Given the description of an element on the screen output the (x, y) to click on. 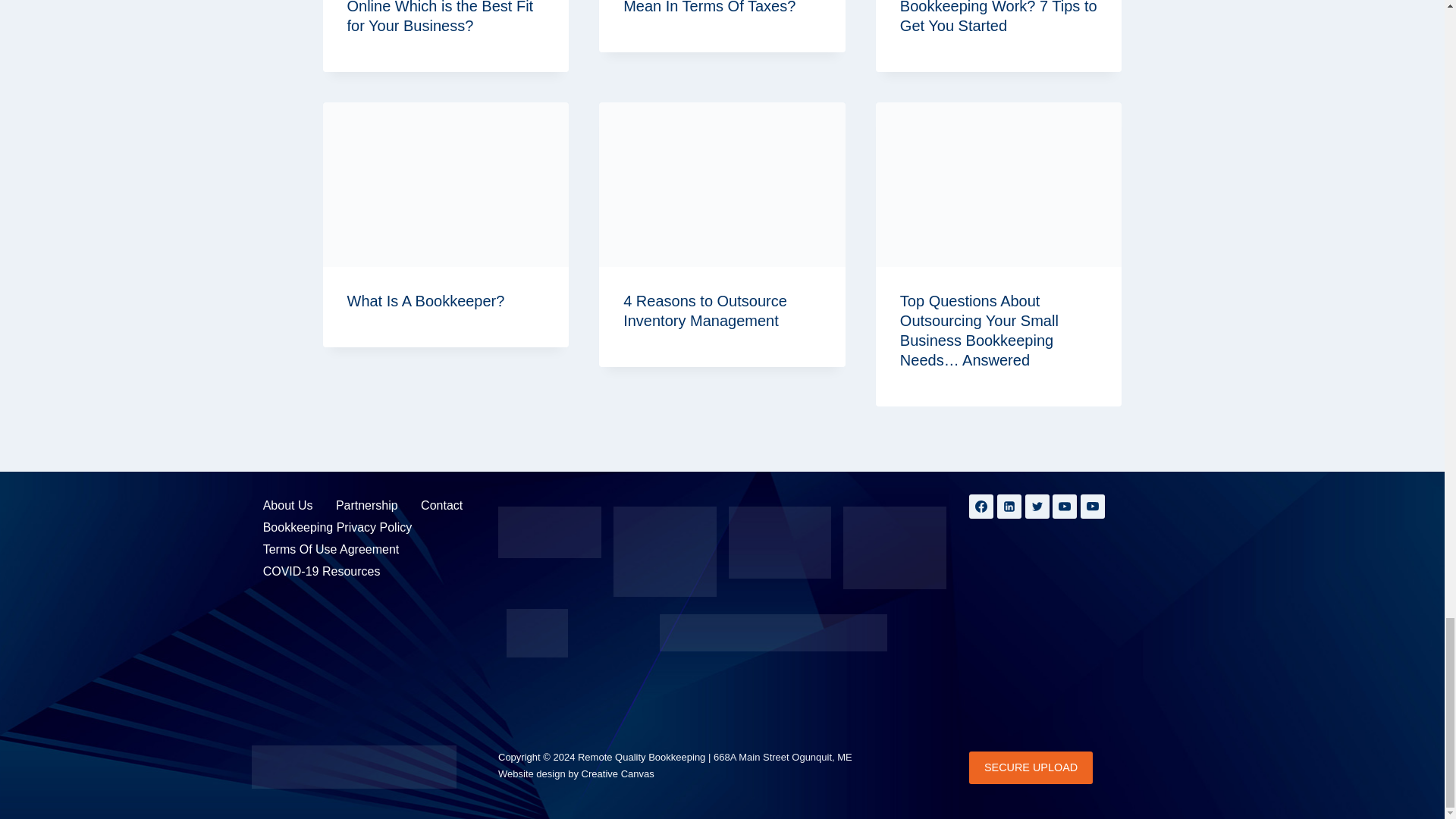
About Us (287, 505)
